Given the description of an element on the screen output the (x, y) to click on. 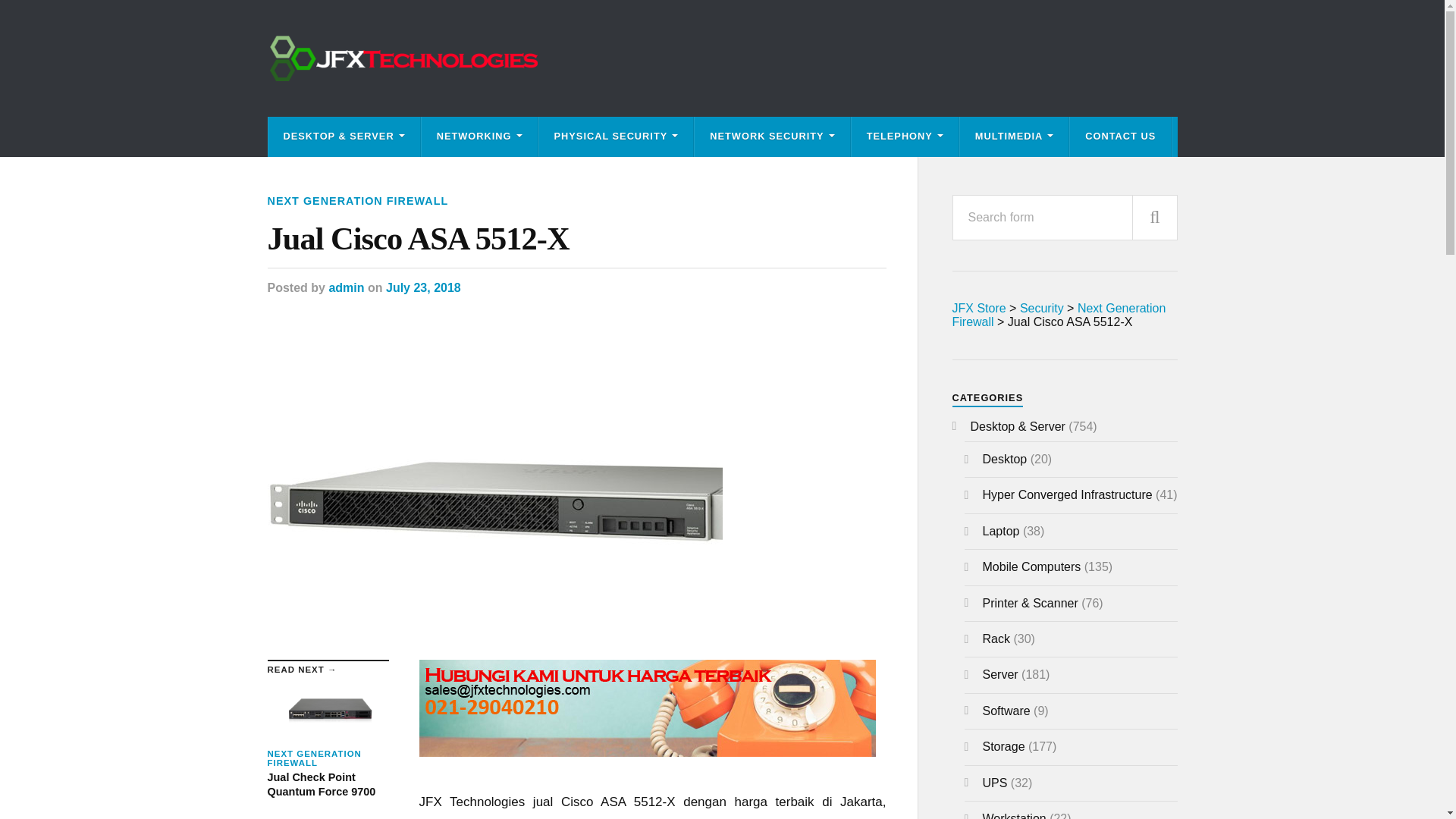
Go to the Next Generation Firewall category archives. (1059, 315)
NETWORK SECURITY (771, 137)
Jual Cisco ASA 5512-X (575, 238)
Jual Check Point Quantum Force 9700 (327, 740)
PHYSICAL SECURITY (616, 137)
Go to the Security category archives. (1042, 308)
NETWORKING (479, 137)
Go to JFX Store. (979, 308)
